Given the description of an element on the screen output the (x, y) to click on. 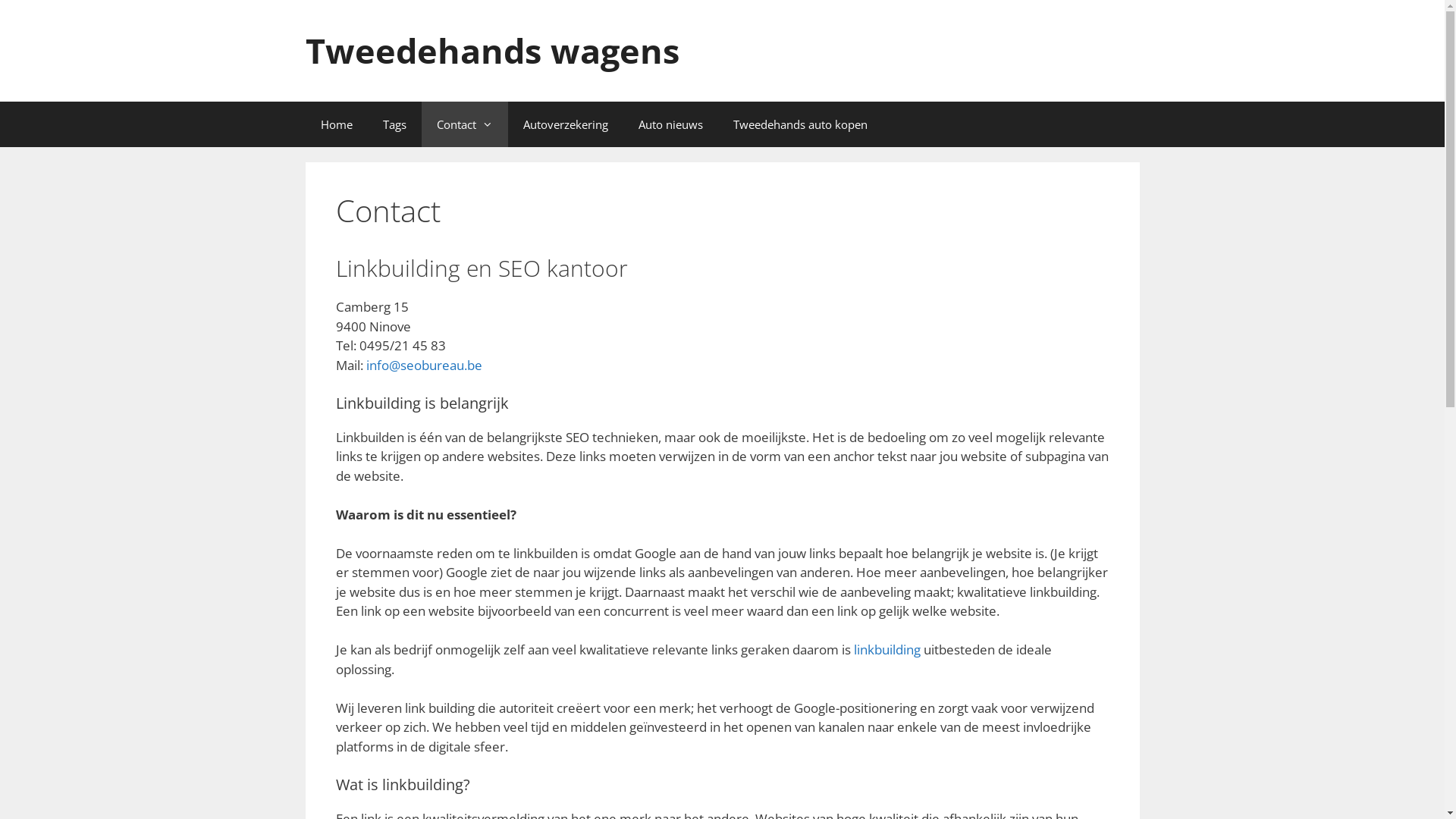
Auto nieuws Element type: text (670, 124)
Tweedehands auto kopen Element type: text (799, 124)
info@seobureau.be Element type: text (423, 364)
Tweedehands wagens Element type: text (491, 50)
Home Element type: text (335, 124)
Contact Element type: text (464, 124)
linkbuilding Element type: text (886, 649)
Autoverzekering Element type: text (565, 124)
Tags Element type: text (393, 124)
